Given the description of an element on the screen output the (x, y) to click on. 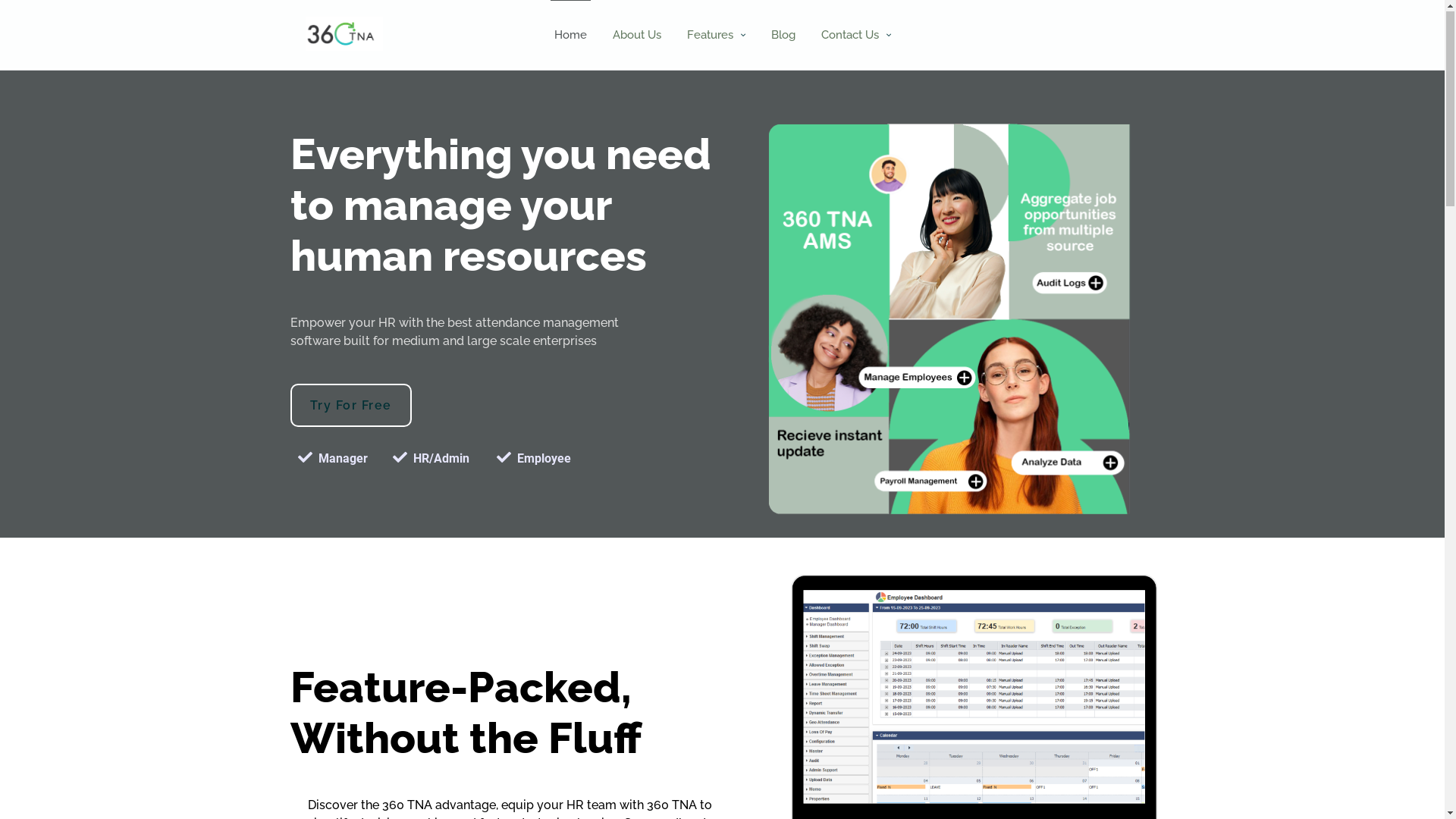
Try For Free Element type: text (350, 405)
Home Element type: text (569, 35)
Features Element type: text (710, 35)
Contact Us Element type: text (849, 35)
About Us Element type: text (636, 35)
Blog Element type: text (782, 35)
